Given the description of an element on the screen output the (x, y) to click on. 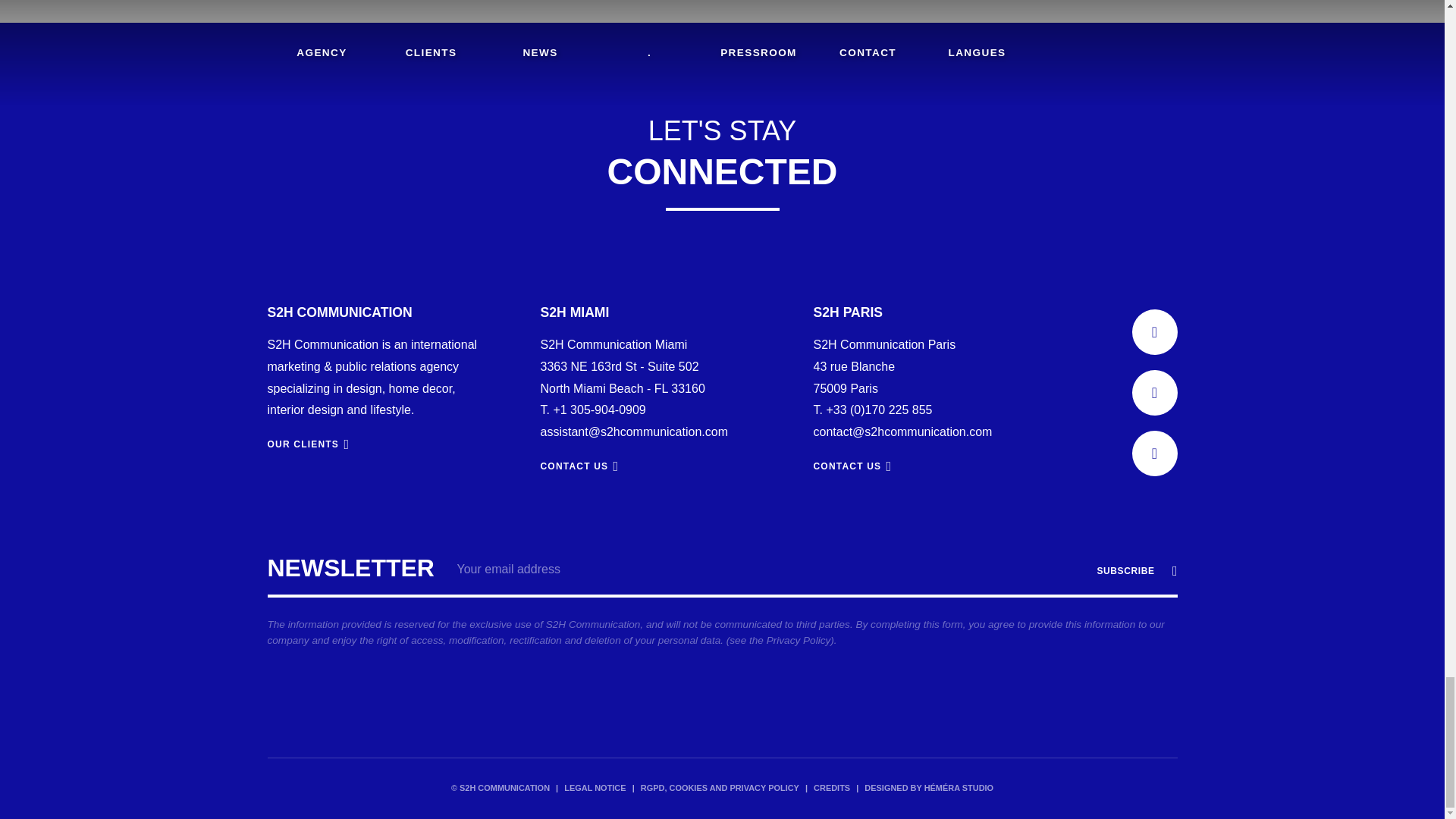
Subscribe (1132, 570)
Linkedin (1153, 331)
CONTACT US (852, 466)
Subscribe (1132, 570)
CONTACT US (580, 466)
RGPD, COOKIES AND PRIVACY POLICY (719, 788)
OUR CLIENTS (308, 443)
CREDITS (831, 788)
LEGAL NOTICE (595, 788)
Instagram (1153, 452)
Facebook (1153, 392)
Sign up to our newsletter (721, 605)
Privacy Policy (799, 640)
